Given the description of an element on the screen output the (x, y) to click on. 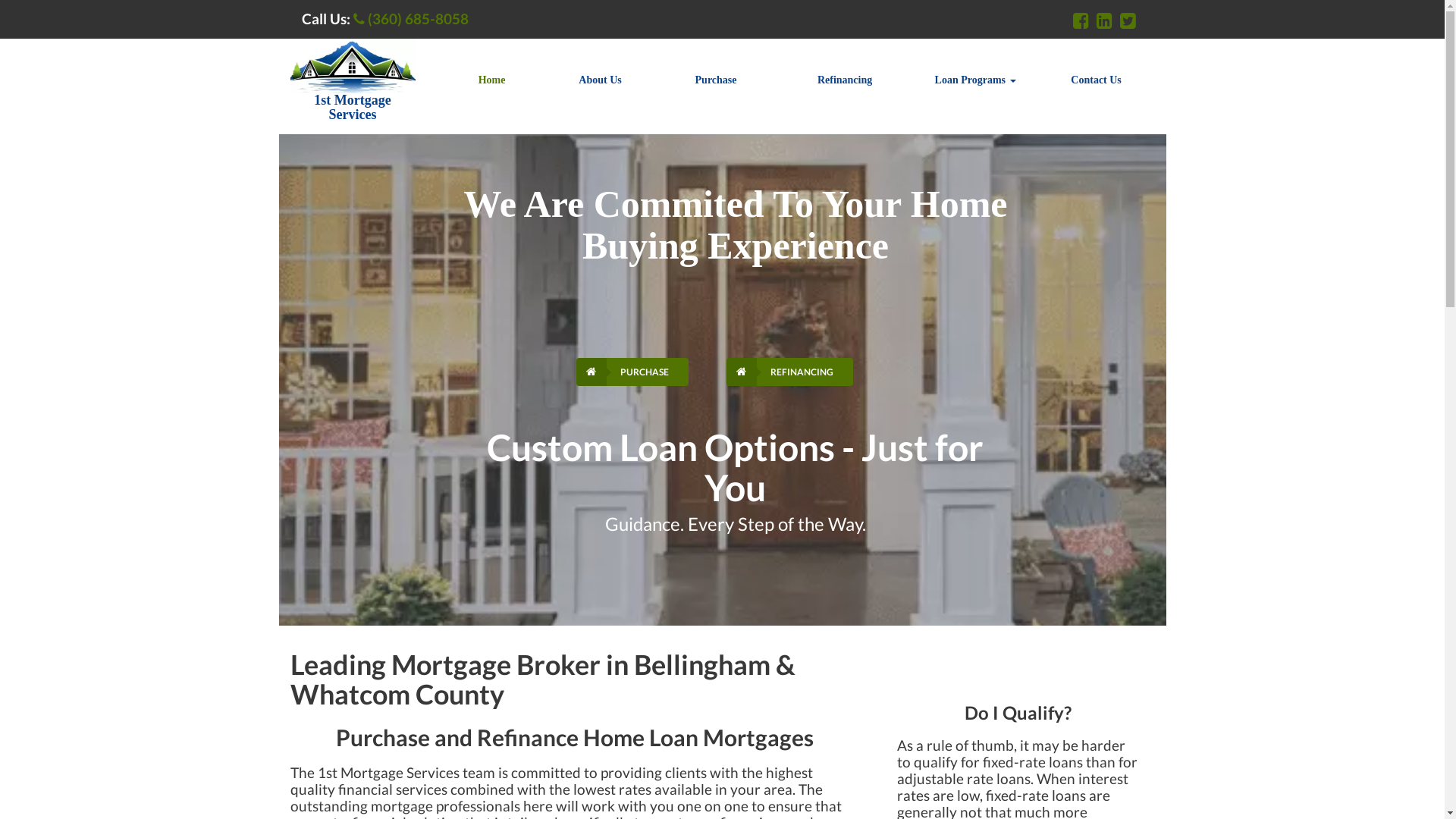
REFINANCING Element type: text (789, 371)
Twitter square Element type: hover (1127, 20)
Facebook square Element type: hover (1080, 20)
Loan Programs Element type: text (974, 80)
Purchase Element type: text (715, 80)
Refinancing Element type: text (845, 80)
Home Element type: text (492, 80)
LinkedIn square Element type: hover (1104, 20)
(360) 685-8058 Element type: text (410, 18)
Contact Us Element type: text (1096, 80)
PURCHASE Element type: text (632, 371)
About Us Element type: text (600, 80)
